Given the description of an element on the screen output the (x, y) to click on. 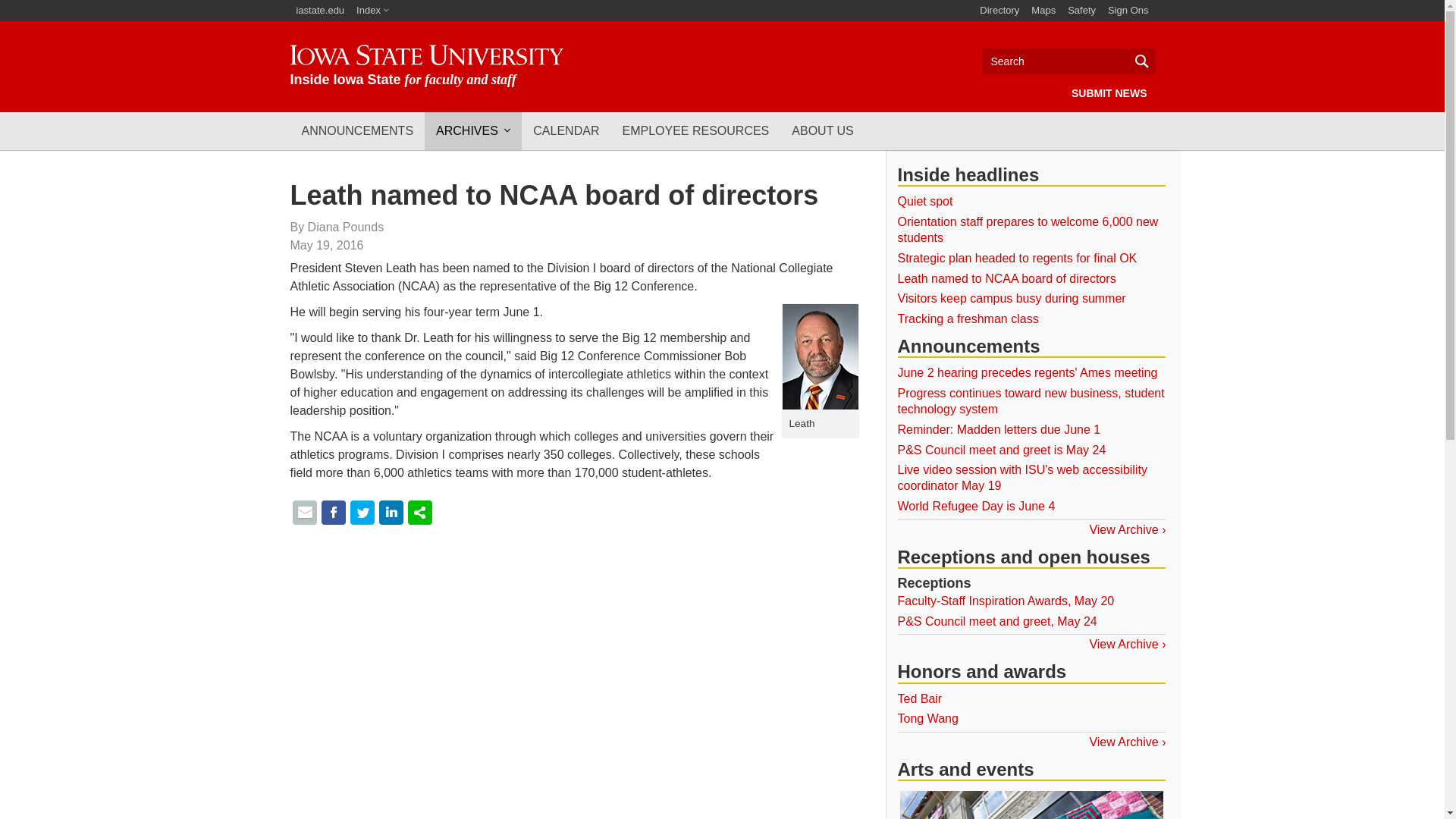
Search (1067, 61)
Sign Ons (1128, 10)
Safety (1081, 10)
Index (372, 10)
ARCHIVES (473, 130)
ANNOUNCEMENTS (357, 130)
iastate.edu (319, 10)
Directory (999, 10)
Home (425, 66)
Maps (1043, 10)
SUBMIT NEWS (1109, 93)
